Given the description of an element on the screen output the (x, y) to click on. 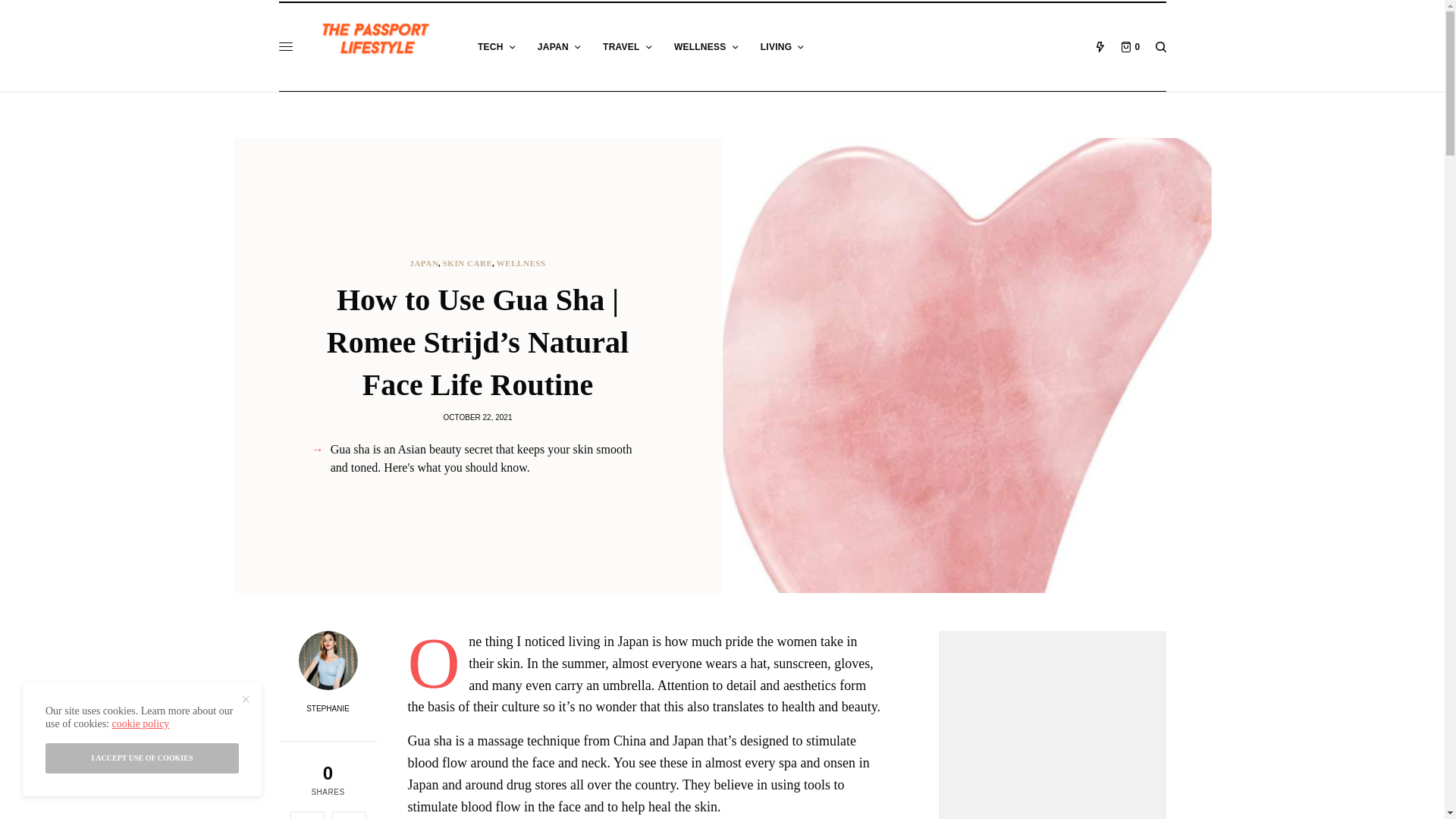
The Passport Lifestyle (379, 40)
